Given the description of an element on the screen output the (x, y) to click on. 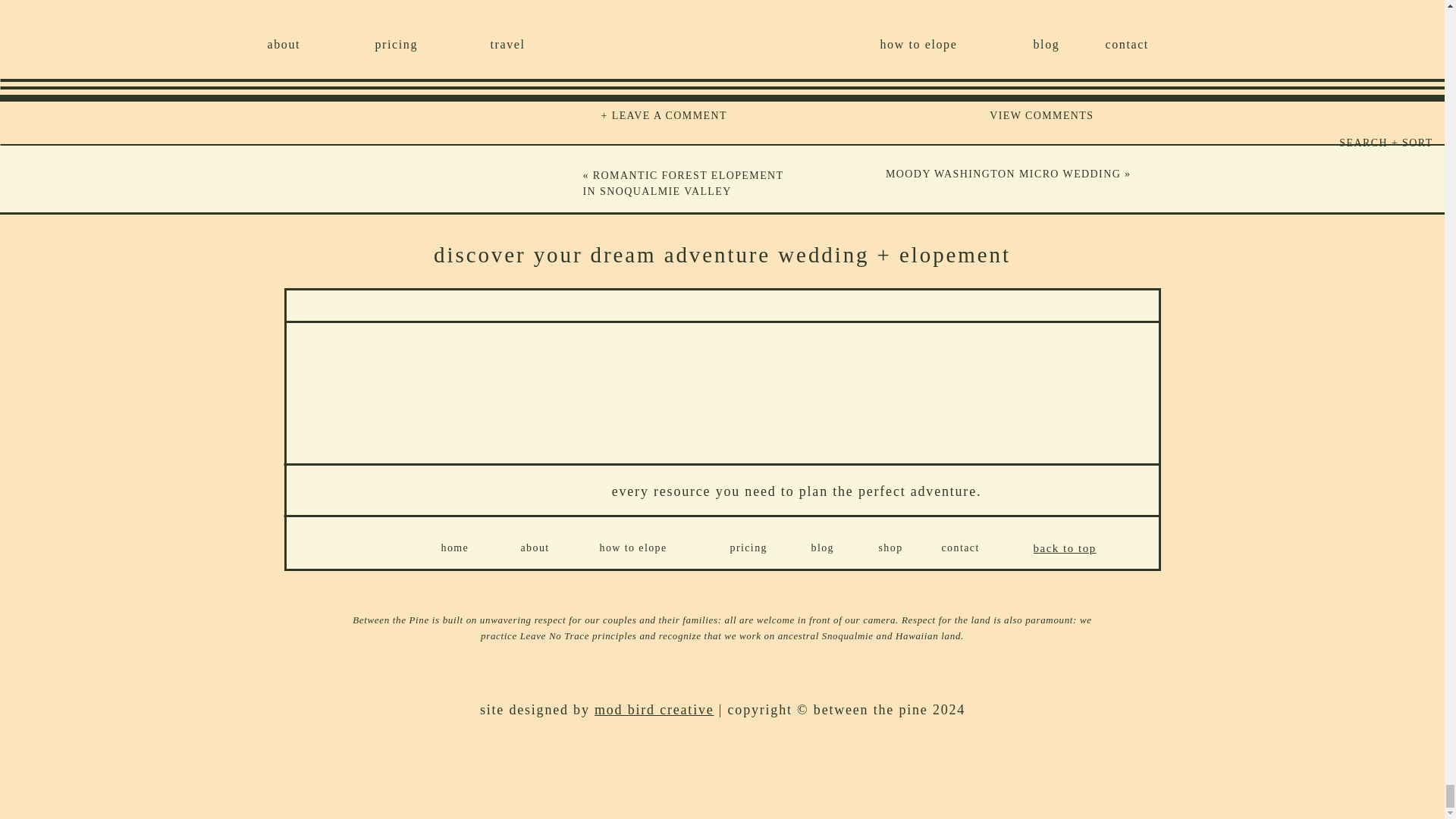
ROMANTIC FOREST ELOPEMENT IN SNOQUALMIE VALLEY (682, 183)
VIEW COMMENTS (994, 119)
mod bird creative (654, 709)
contact (976, 550)
MOODY WASHINGTON MICRO WEDDING (1003, 173)
Click here (885, 30)
shop (899, 550)
